Given the description of an element on the screen output the (x, y) to click on. 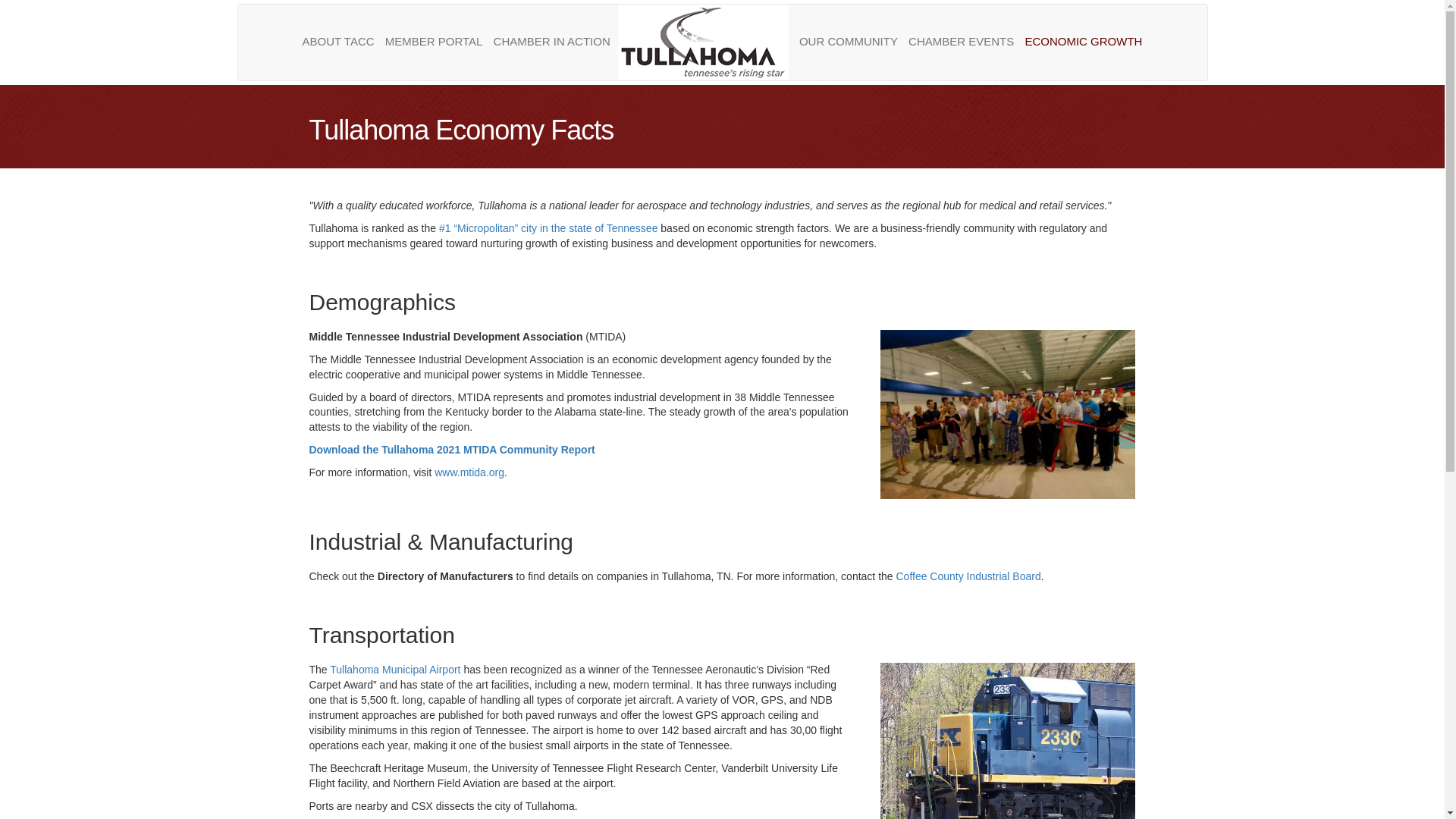
train-620x465 (1007, 740)
ABOUT TACC (338, 41)
